Given the description of an element on the screen output the (x, y) to click on. 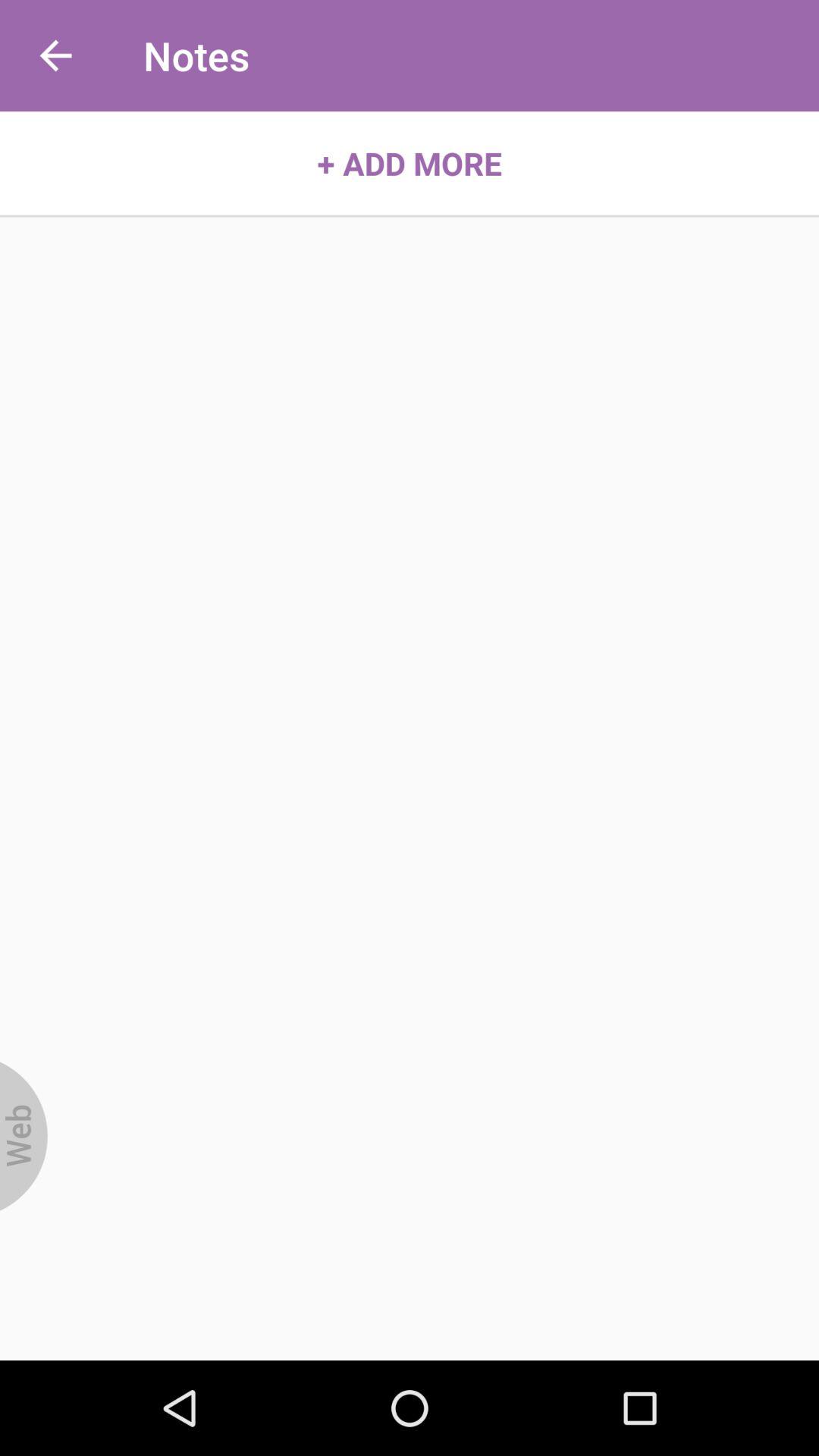
press item below + add more item (23, 1135)
